Given the description of an element on the screen output the (x, y) to click on. 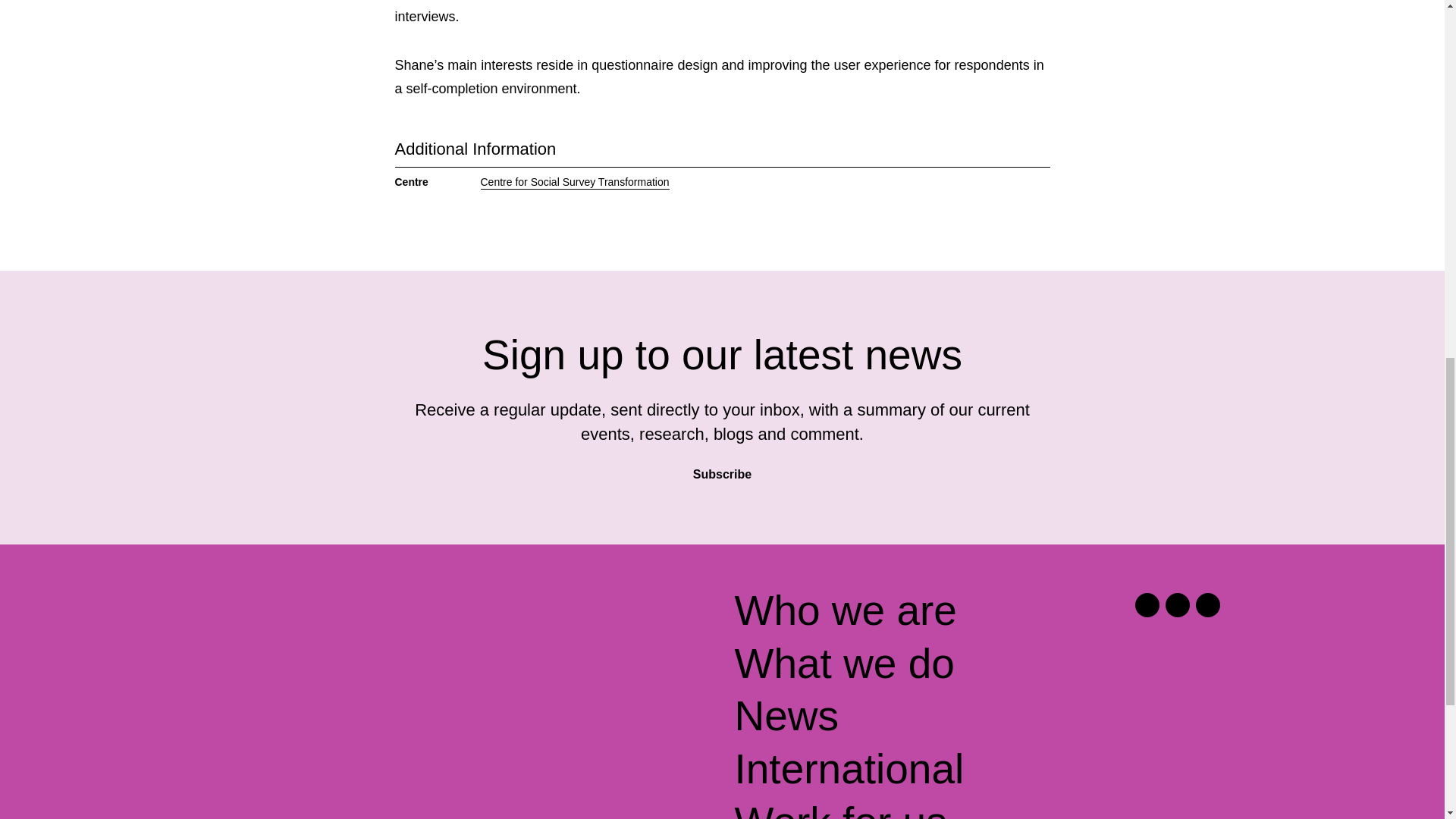
Subscribe (722, 468)
Centre for Social Survey Transformation (574, 182)
Return to the homepage (344, 616)
Linkedin (1176, 604)
Twitter (1146, 604)
Who we are (844, 610)
What we do (843, 663)
Youtube (1207, 604)
